Given the description of an element on the screen output the (x, y) to click on. 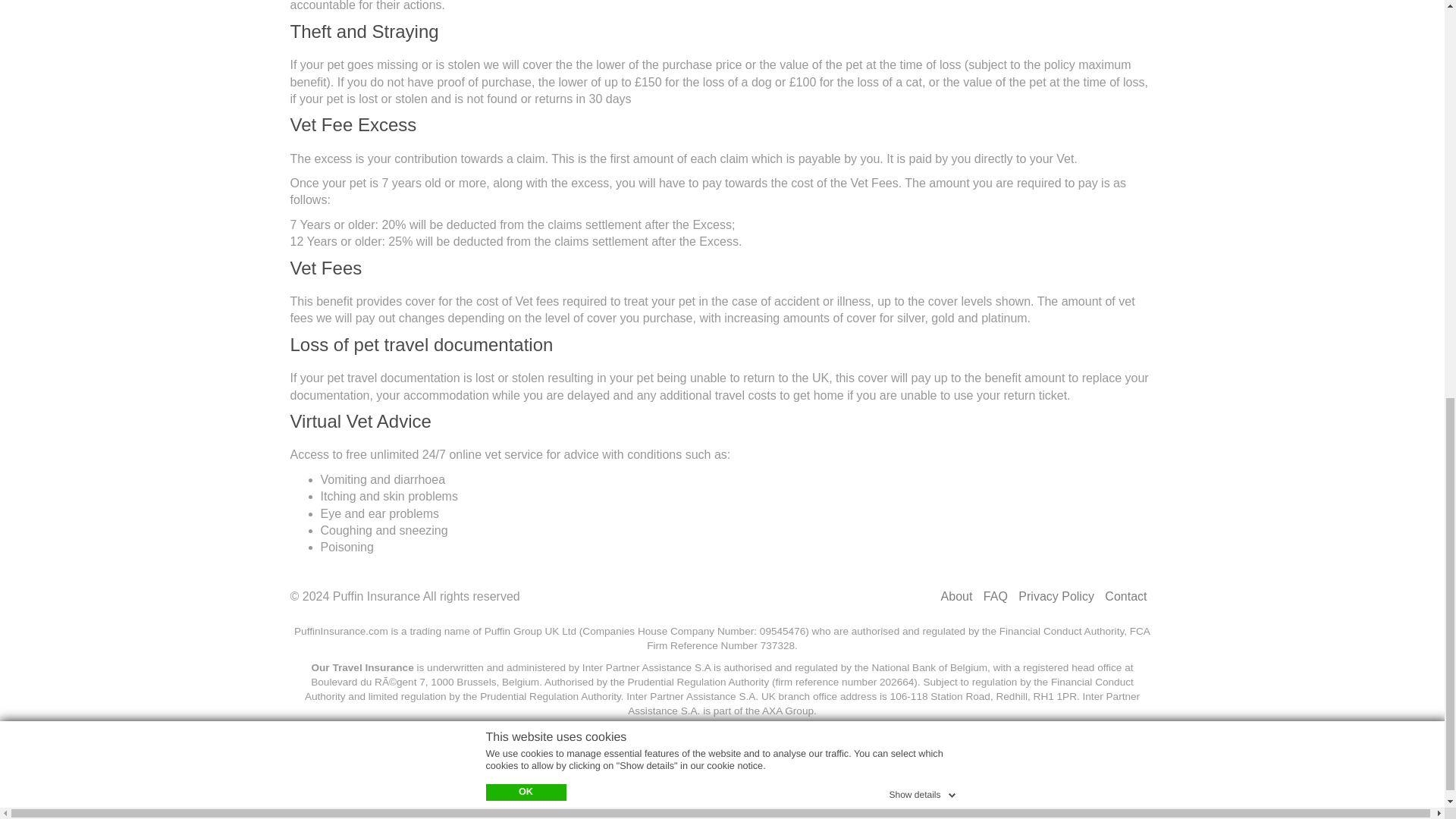
OK (525, 1)
FAQ (995, 595)
About (956, 595)
Show details (923, 1)
